Given the description of an element on the screen output the (x, y) to click on. 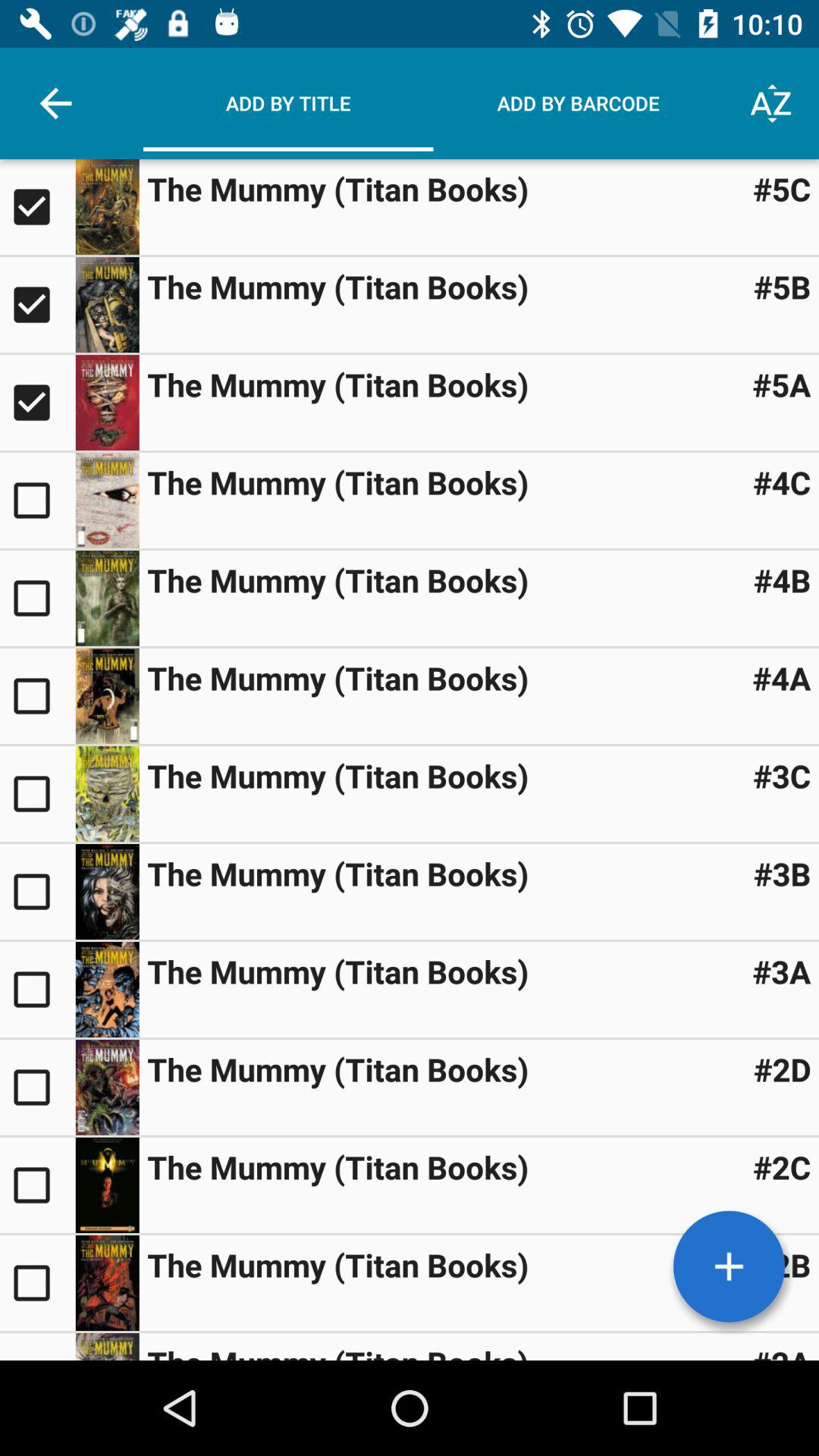
book selection (107, 500)
